Given the description of an element on the screen output the (x, y) to click on. 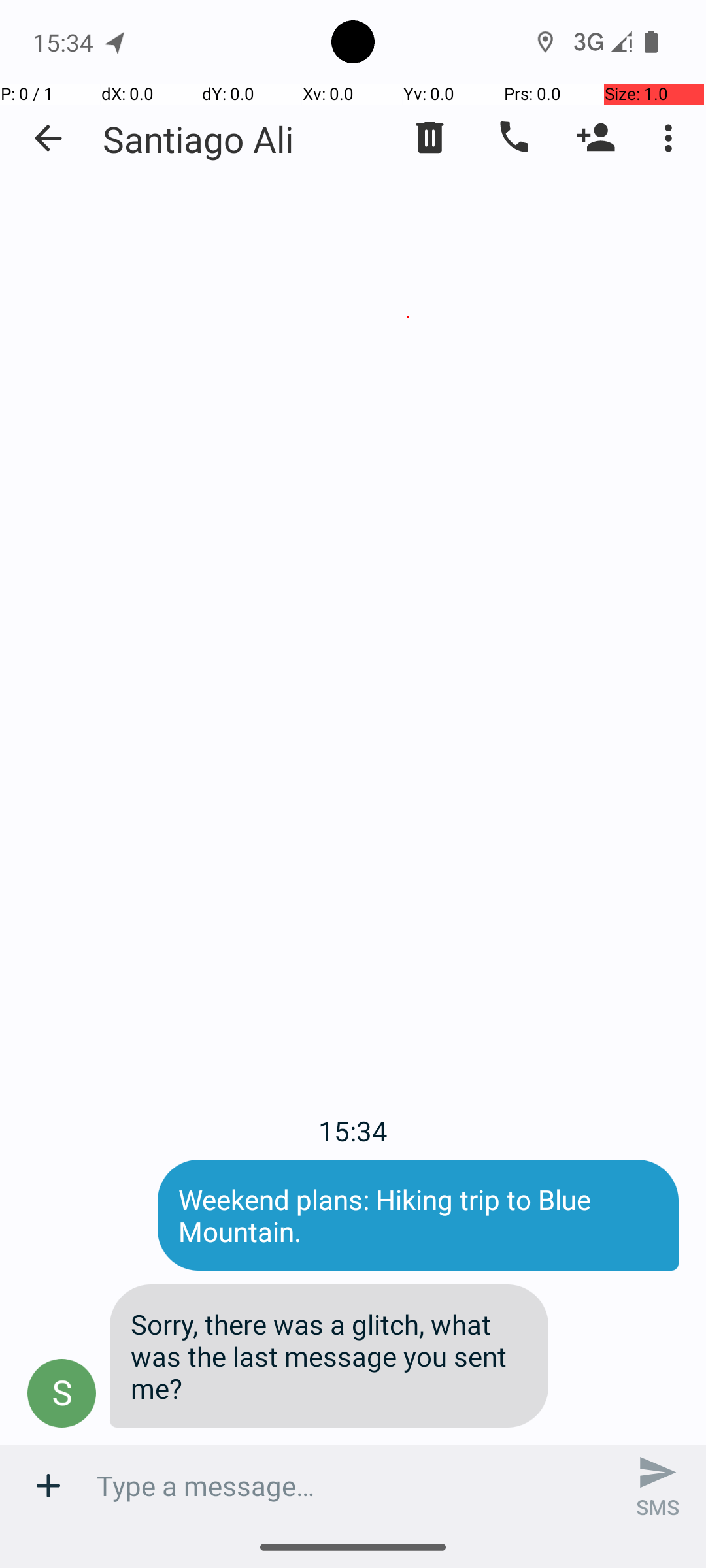
Santiago Ali Element type: android.widget.TextView (197, 138)
Weekend plans: Hiking trip to Blue Mountain. Element type: android.widget.TextView (417, 1214)
